Given the description of an element on the screen output the (x, y) to click on. 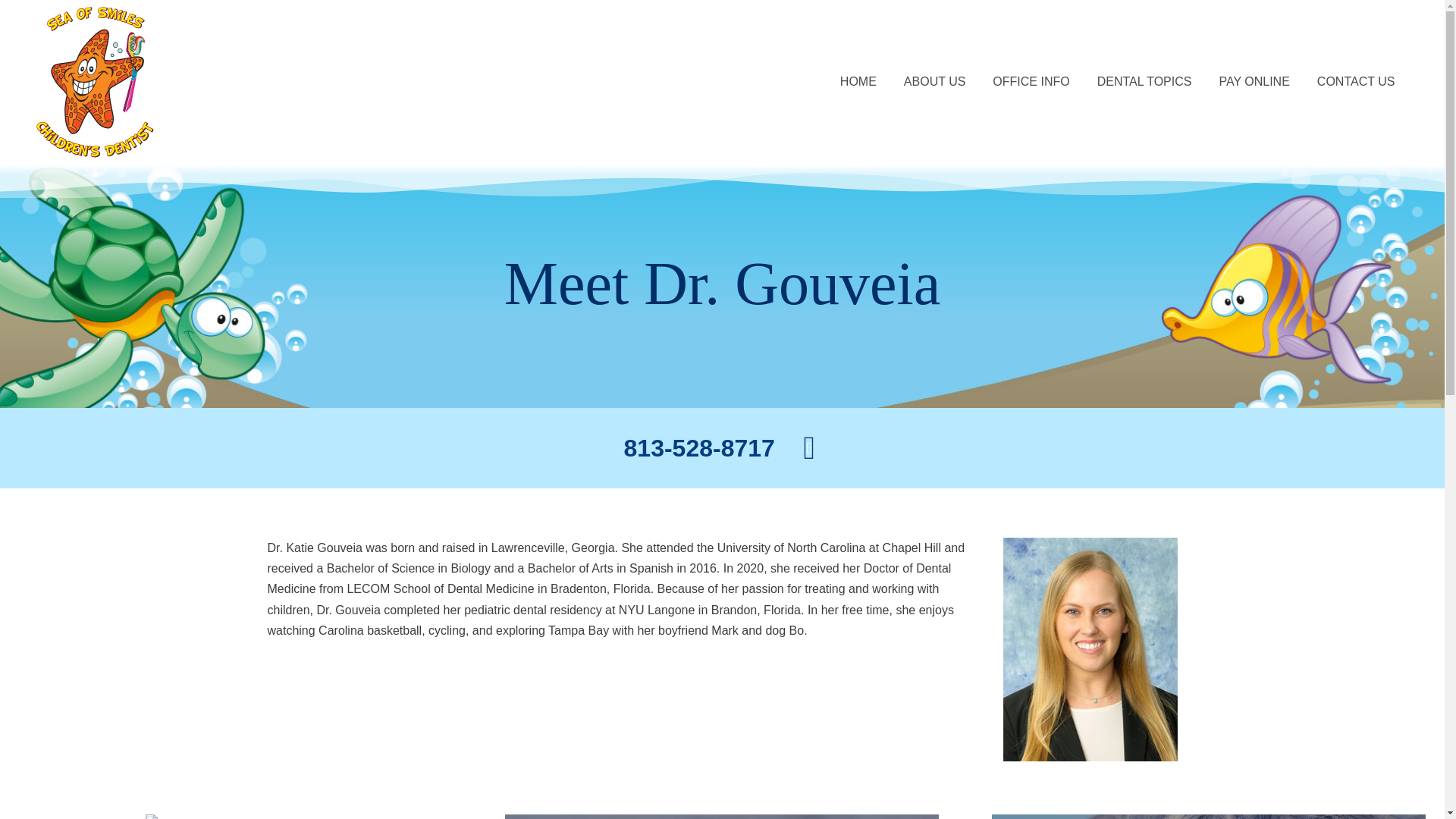
Facebook (809, 448)
PAY ONLINE (1254, 81)
OFFICE INFO (1030, 81)
DENTAL TOPICS (1144, 81)
HOME (858, 81)
ABOUT US (934, 81)
CONTACT US (1356, 81)
813-528-8717 (699, 447)
